Given the description of an element on the screen output the (x, y) to click on. 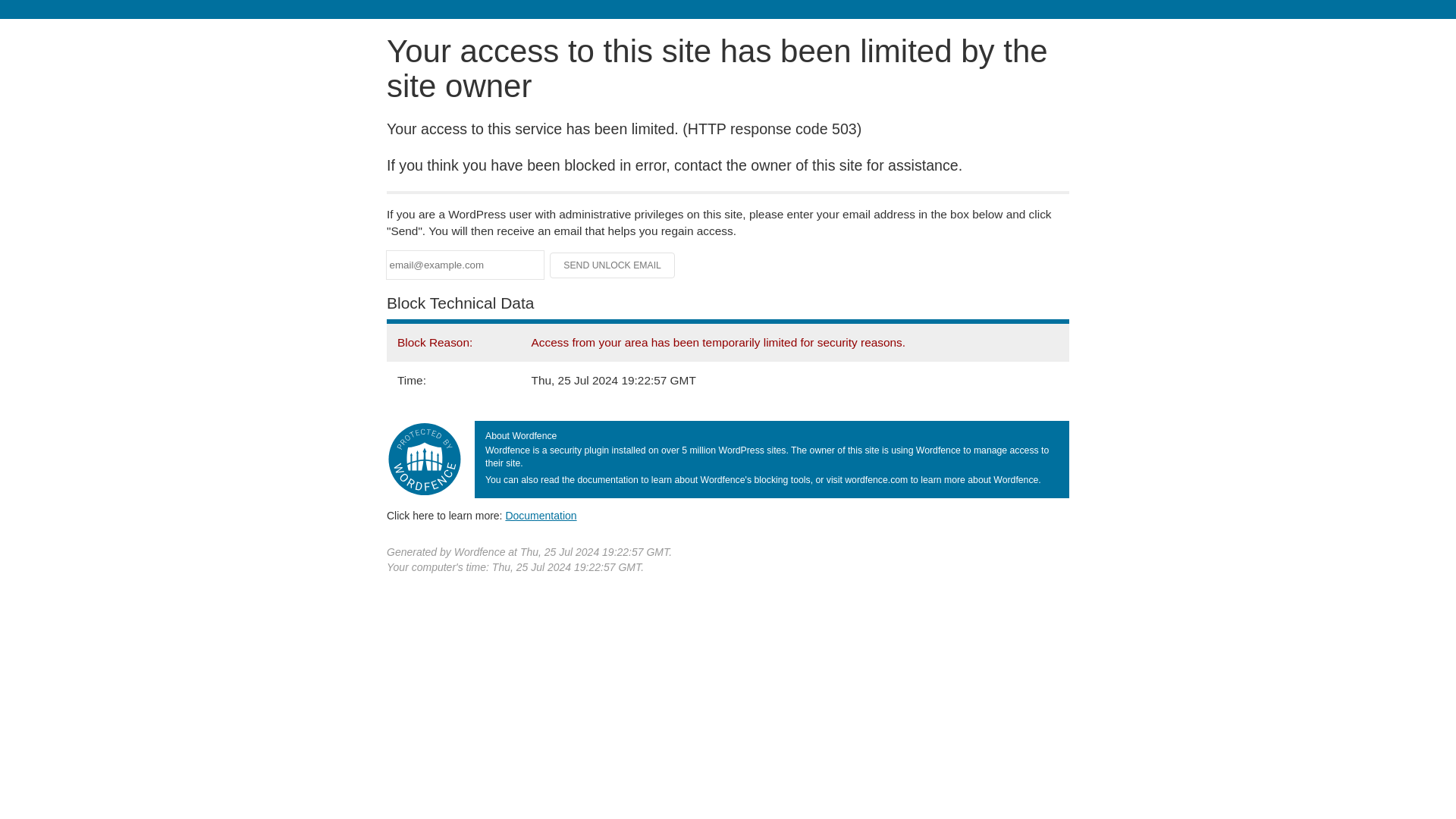
Documentation (540, 515)
Send Unlock Email (612, 265)
Send Unlock Email (612, 265)
